Given the description of an element on the screen output the (x, y) to click on. 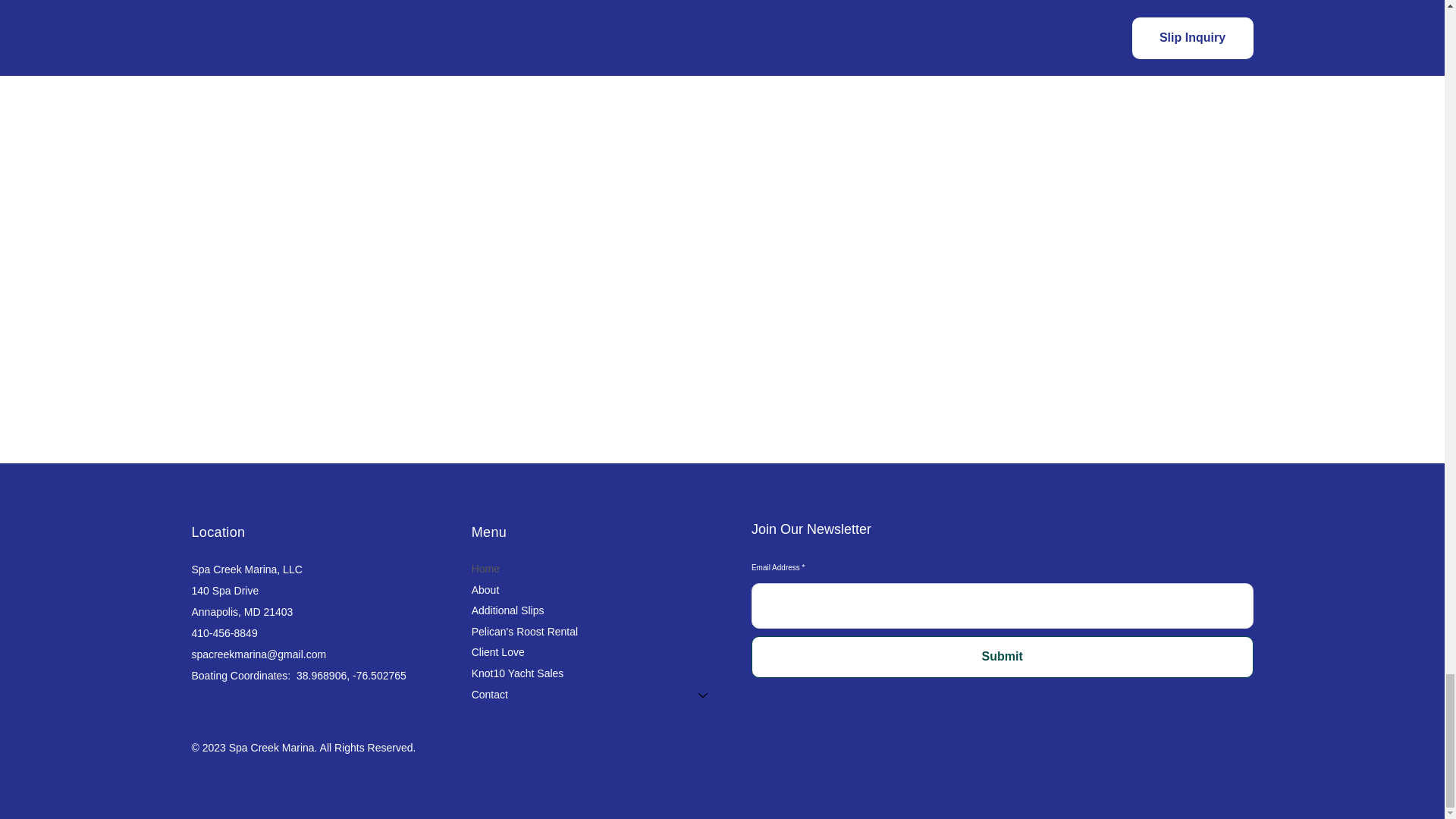
Additional Slips (596, 610)
Home (596, 568)
Pelican's Roost Rental (596, 631)
About (596, 590)
Submit (1002, 657)
Knot10 Yacht Sales (596, 673)
Client Love (596, 652)
Contact (577, 694)
